Given the description of an element on the screen output the (x, y) to click on. 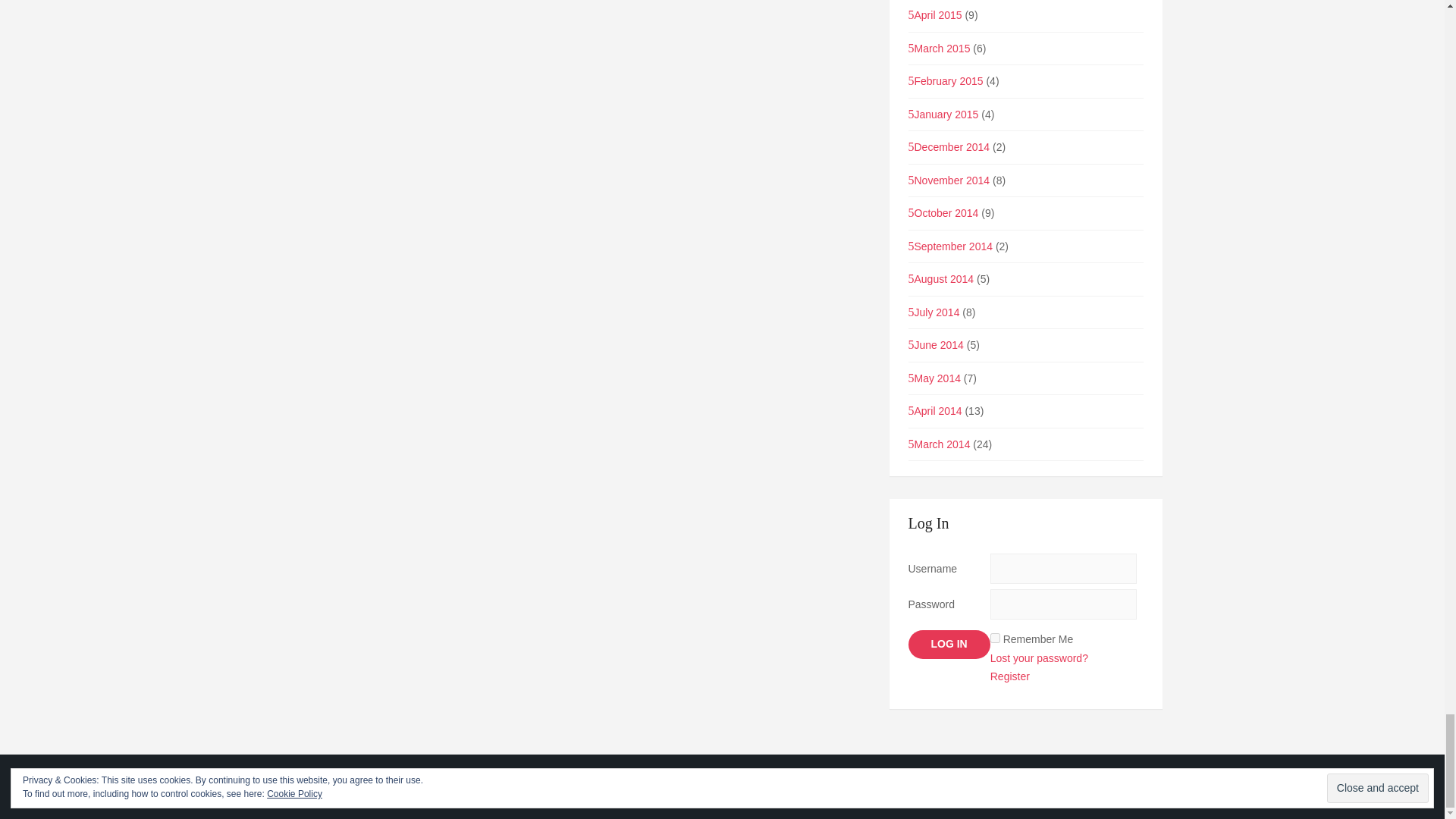
forever (995, 637)
Log In (949, 644)
Password Lost and Found (1038, 657)
